Given the description of an element on the screen output the (x, y) to click on. 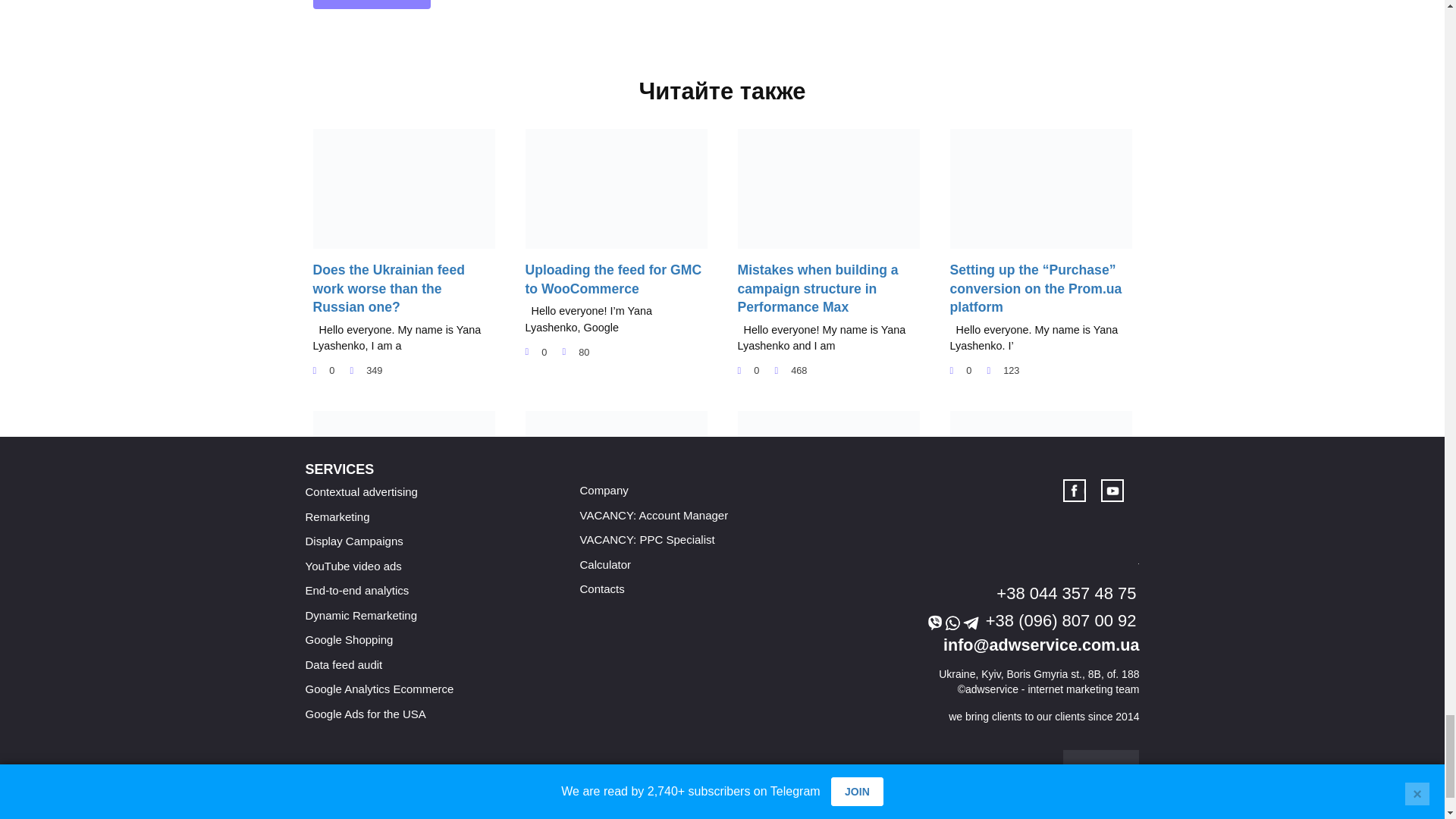
Post Comment (371, 4)
